Given the description of an element on the screen output the (x, y) to click on. 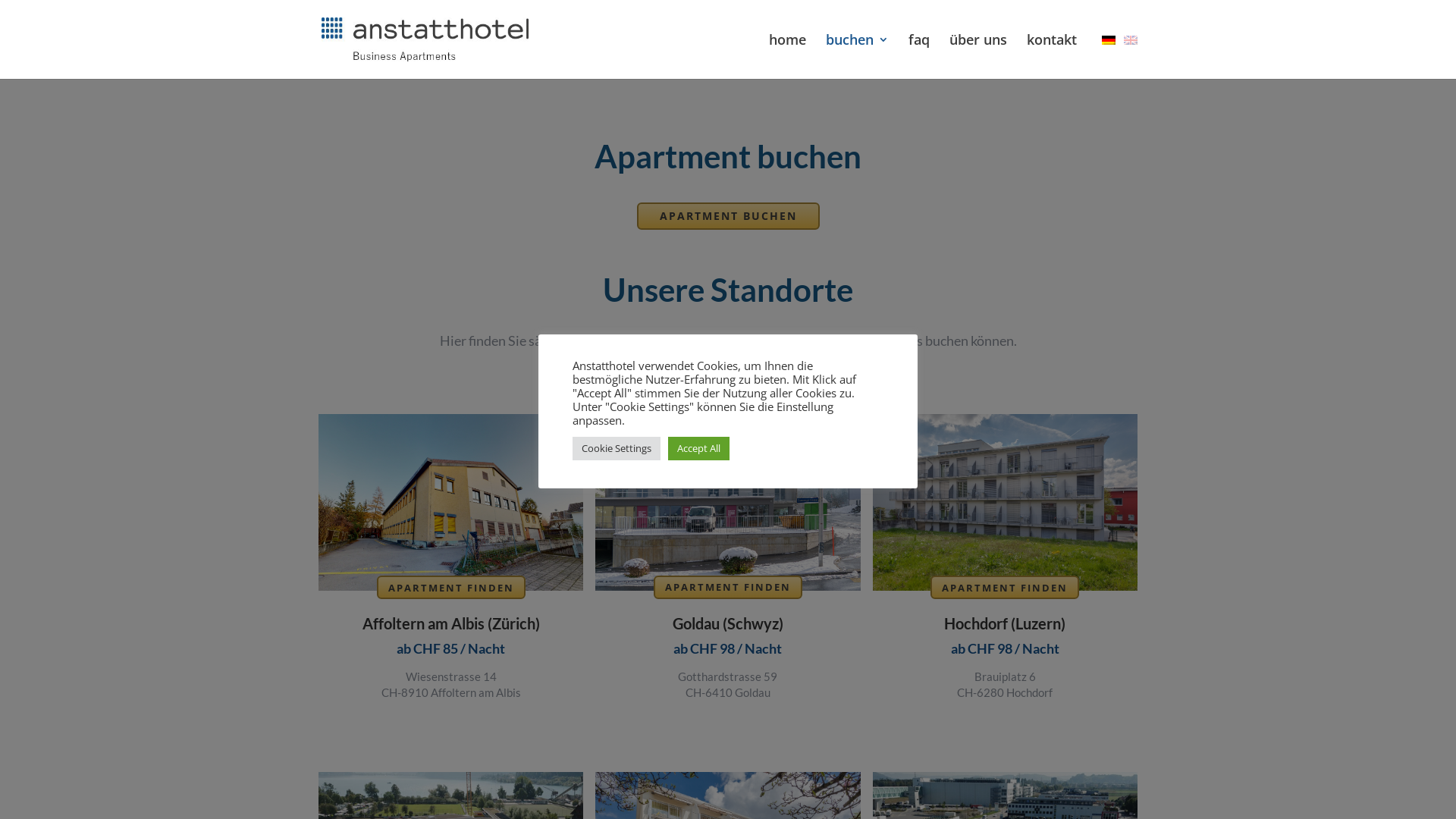
home Element type: text (787, 56)
Accept All Element type: text (698, 448)
Wiesenstrasse-14-Aufnahme-2-Aussen-Gebaude (2)_2x3 Element type: hover (450, 502)
APARTMENT BUCHEN Element type: text (728, 215)
APARTMENT FINDEN Element type: text (450, 587)
kontakt Element type: text (1051, 56)
faq Element type: text (918, 56)
DSC05527 Element type: hover (727, 502)
buchen Element type: text (856, 56)
Cookie Settings Element type: text (616, 448)
APARTMENT FINDEN Element type: text (727, 587)
APARTMENT FINDEN Element type: text (1004, 587)
